Given the description of an element on the screen output the (x, y) to click on. 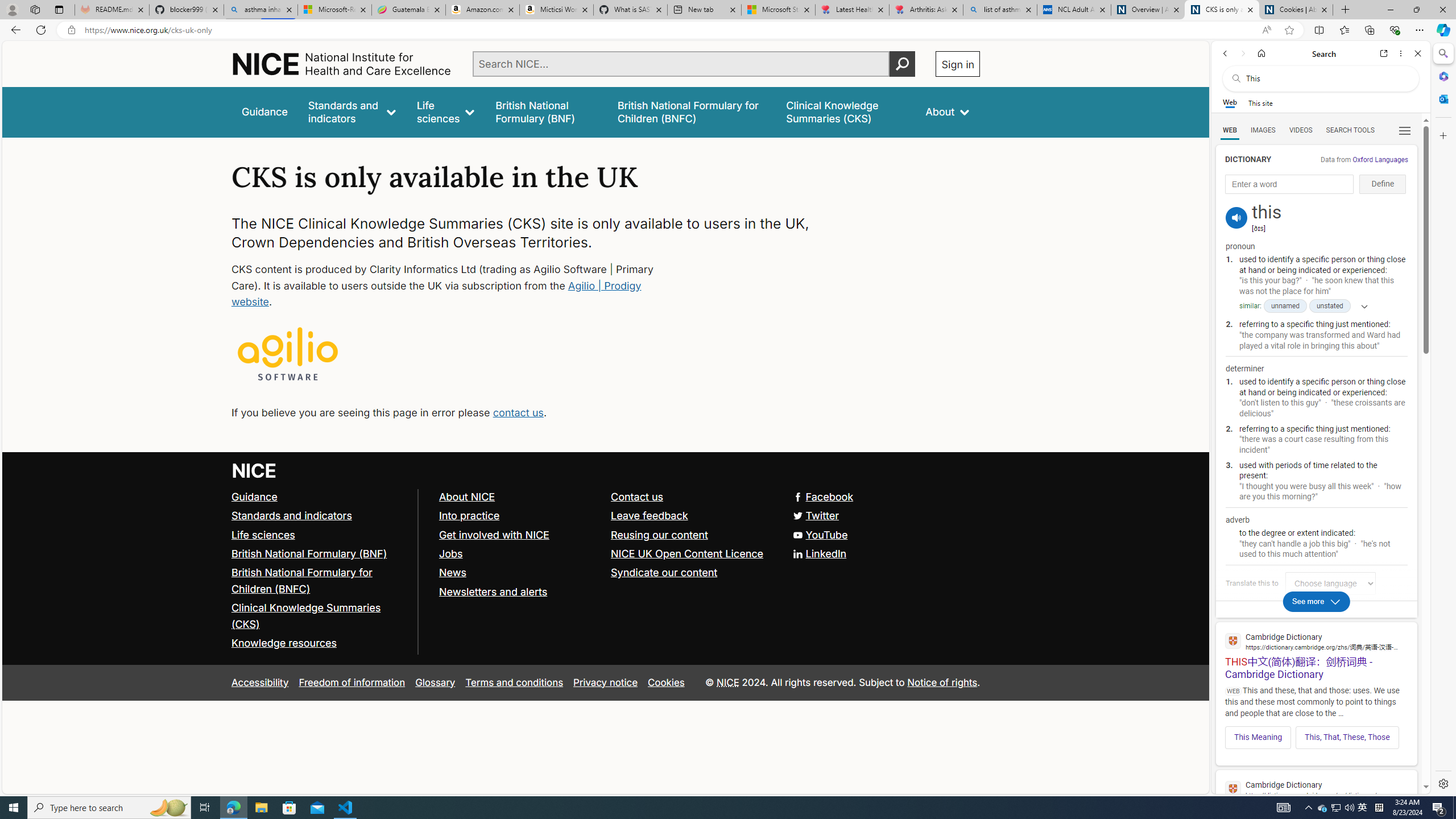
Logo for Clarity Consulting (288, 355)
About NICE (518, 496)
contact us (517, 412)
LinkedIn (820, 553)
Leave feedback (692, 515)
NICE UK Open Content Licence (692, 553)
Sign in (957, 63)
British National Formulary for Children (BNFC) (301, 579)
Home (341, 63)
